Given the description of an element on the screen output the (x, y) to click on. 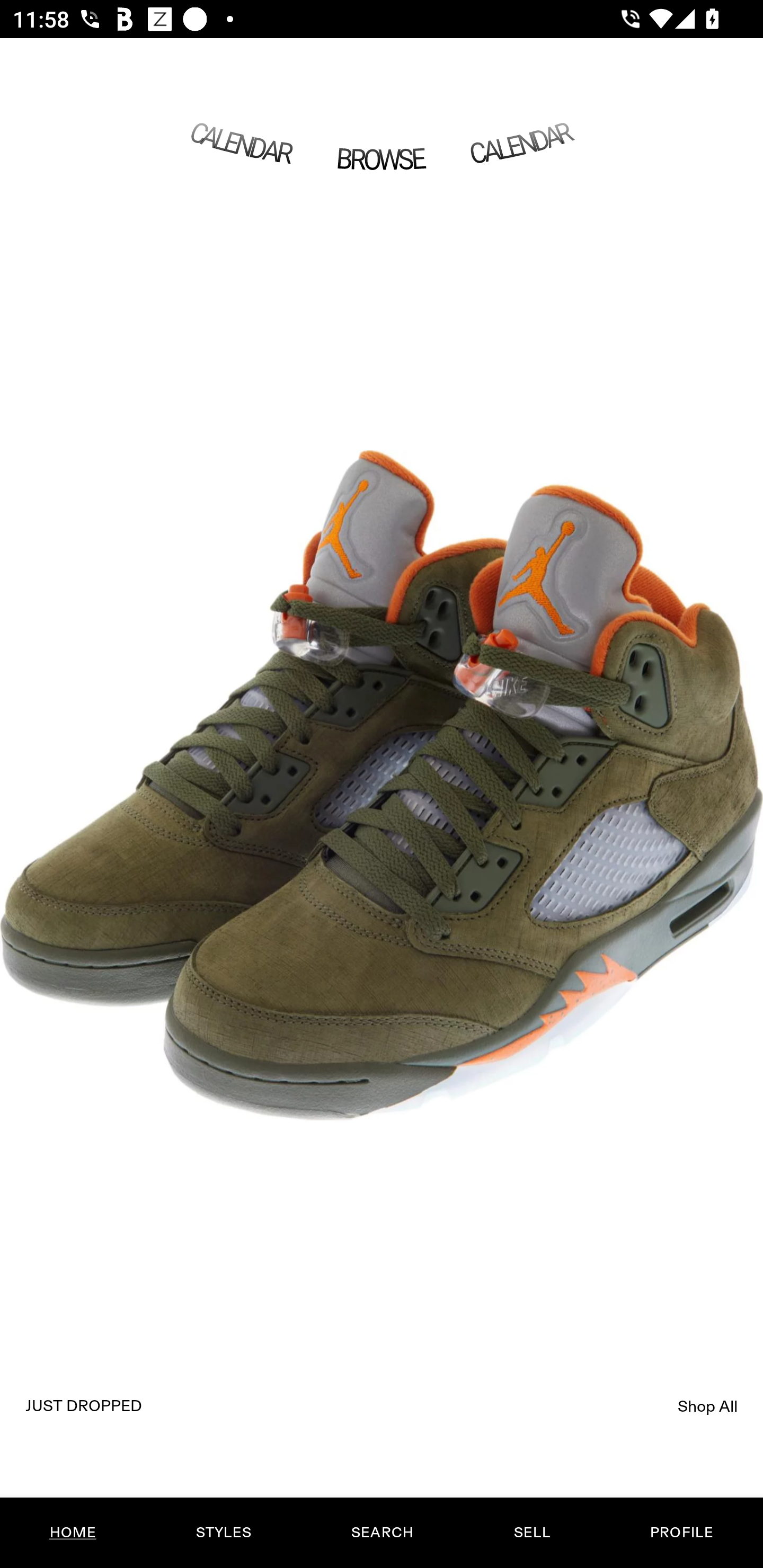
Shop All (707, 1406)
HOME (72, 1532)
STYLES (222, 1532)
SEARCH (381, 1532)
SELL (531, 1532)
PROFILE (681, 1532)
